Given the description of an element on the screen output the (x, y) to click on. 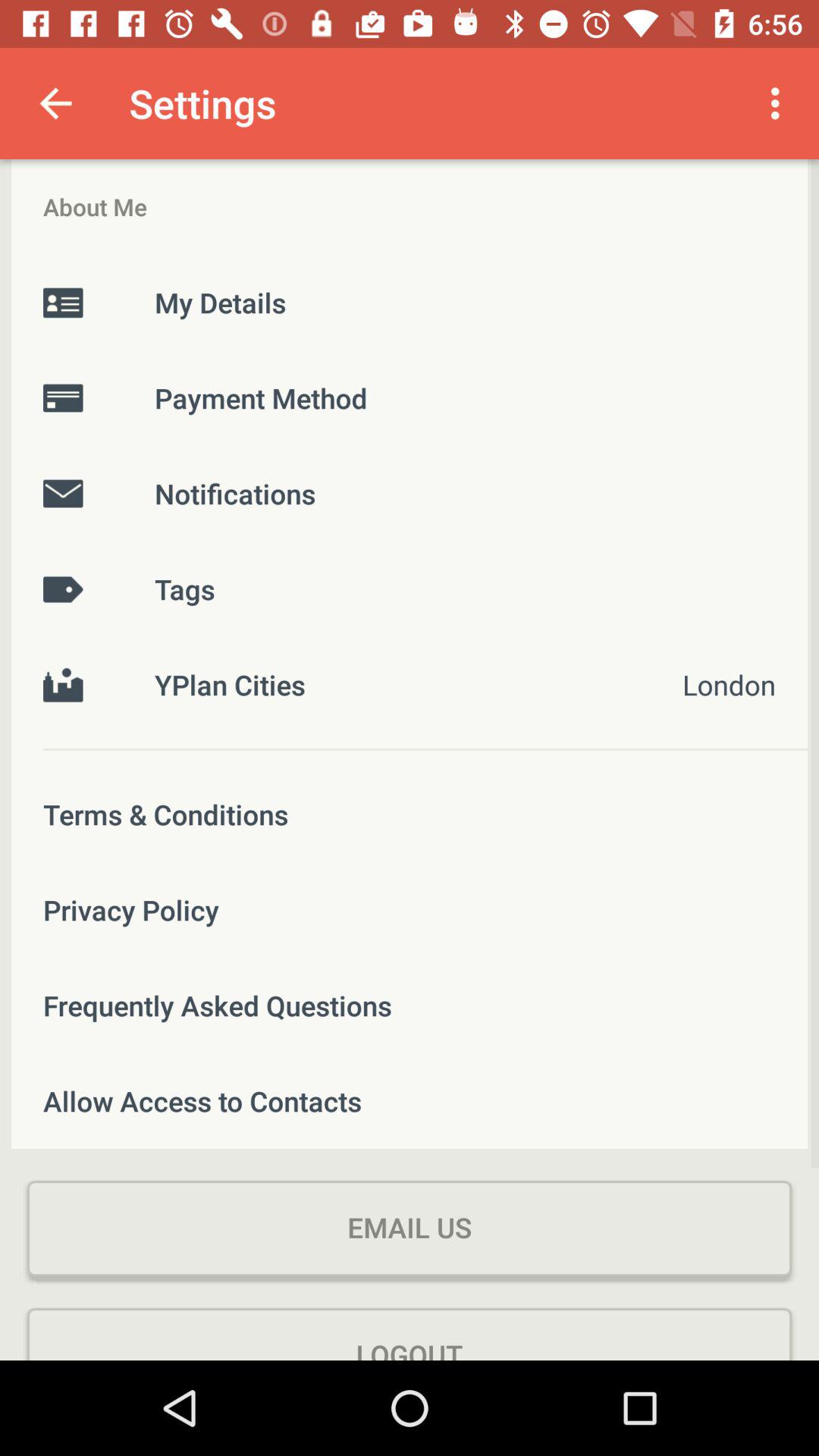
launch item below the payment method item (409, 493)
